Given the description of an element on the screen output the (x, y) to click on. 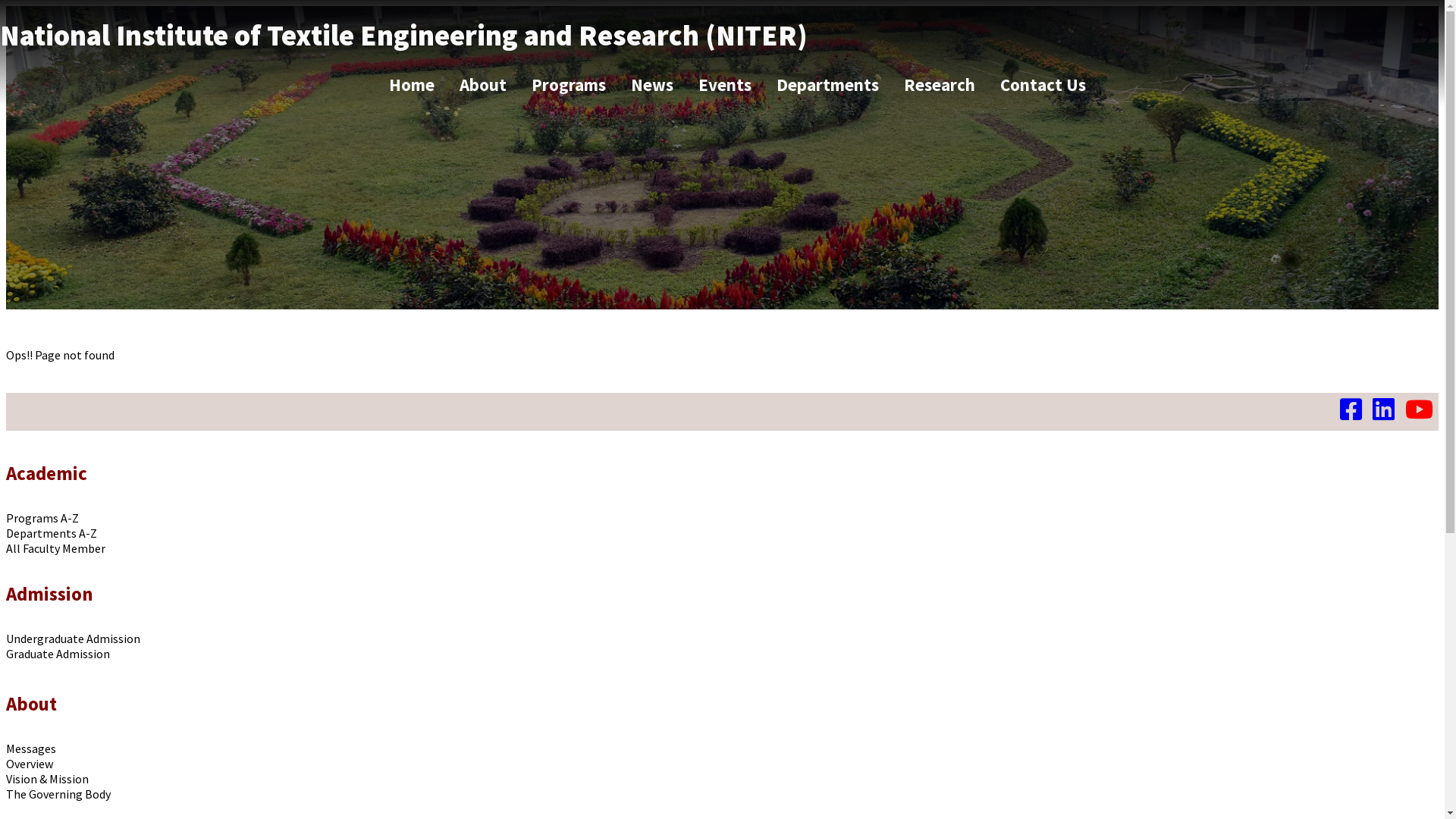
Programs Element type: text (568, 84)
All Faculty Member Element type: text (55, 547)
About Element type: text (482, 84)
Overview Element type: text (29, 763)
Home Element type: text (411, 84)
Graduate Admission Element type: text (57, 653)
Research Element type: text (939, 84)
Departments Element type: text (827, 84)
Undergraduate Admission Element type: text (73, 638)
News Element type: text (651, 84)
Messages Element type: text (31, 748)
The Governing Body Element type: text (58, 793)
Programs A-Z Element type: text (42, 517)
Departments A-Z Element type: text (51, 532)
Vision & Mission Element type: text (47, 778)
Events Element type: text (724, 84)
Contact Us Element type: text (1042, 84)
